Given the description of an element on the screen output the (x, y) to click on. 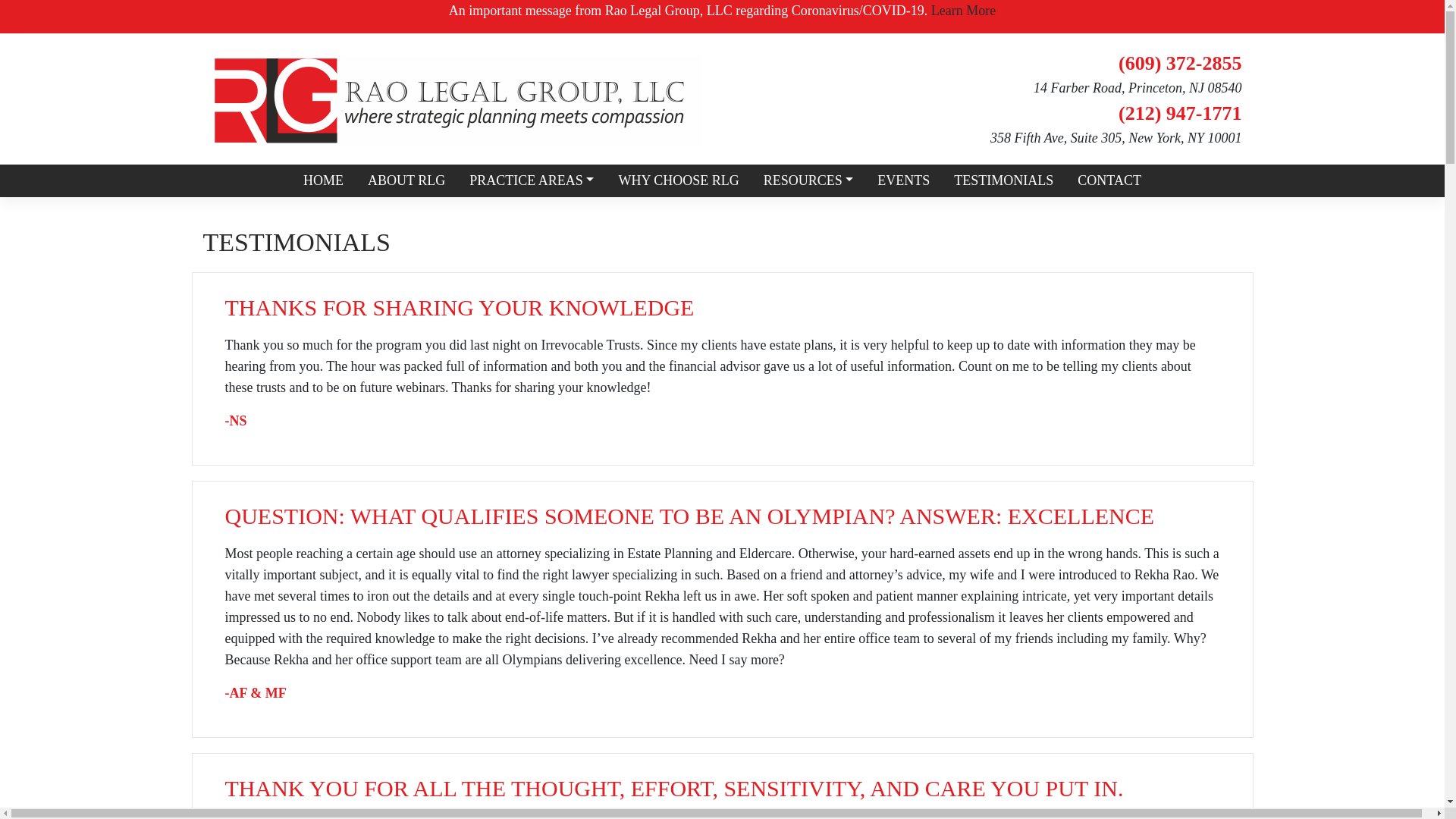
HOME (323, 180)
Home (323, 180)
RESOURCES (808, 180)
Why Choose RLG (678, 180)
Resources (808, 180)
CONTACT (1109, 180)
Practice Areas (531, 180)
ABOUT RLG (406, 180)
PRACTICE AREAS (531, 180)
WHY CHOOSE RLG (678, 180)
EVENTS (903, 180)
About RLG (406, 180)
 Learn More (961, 10)
TESTIMONIALS (1003, 180)
